Given the description of an element on the screen output the (x, y) to click on. 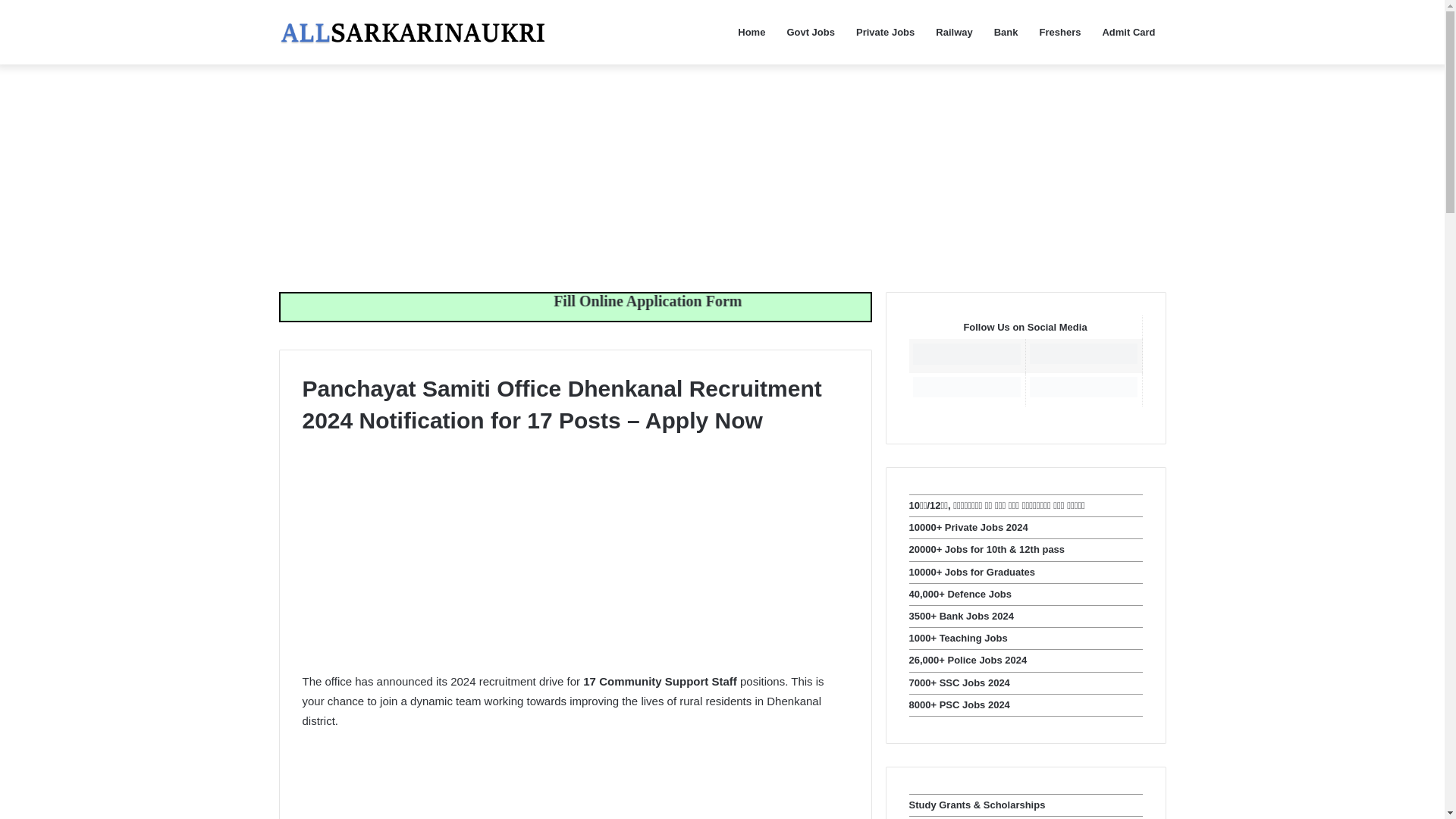
Private Jobs (884, 32)
Govt Jobs (810, 32)
Freshers (1060, 32)
All Sarkari Naukri (413, 32)
Fill Online Application Form (765, 300)
Railway (953, 32)
Admit Card (1128, 32)
